Given the description of an element on the screen output the (x, y) to click on. 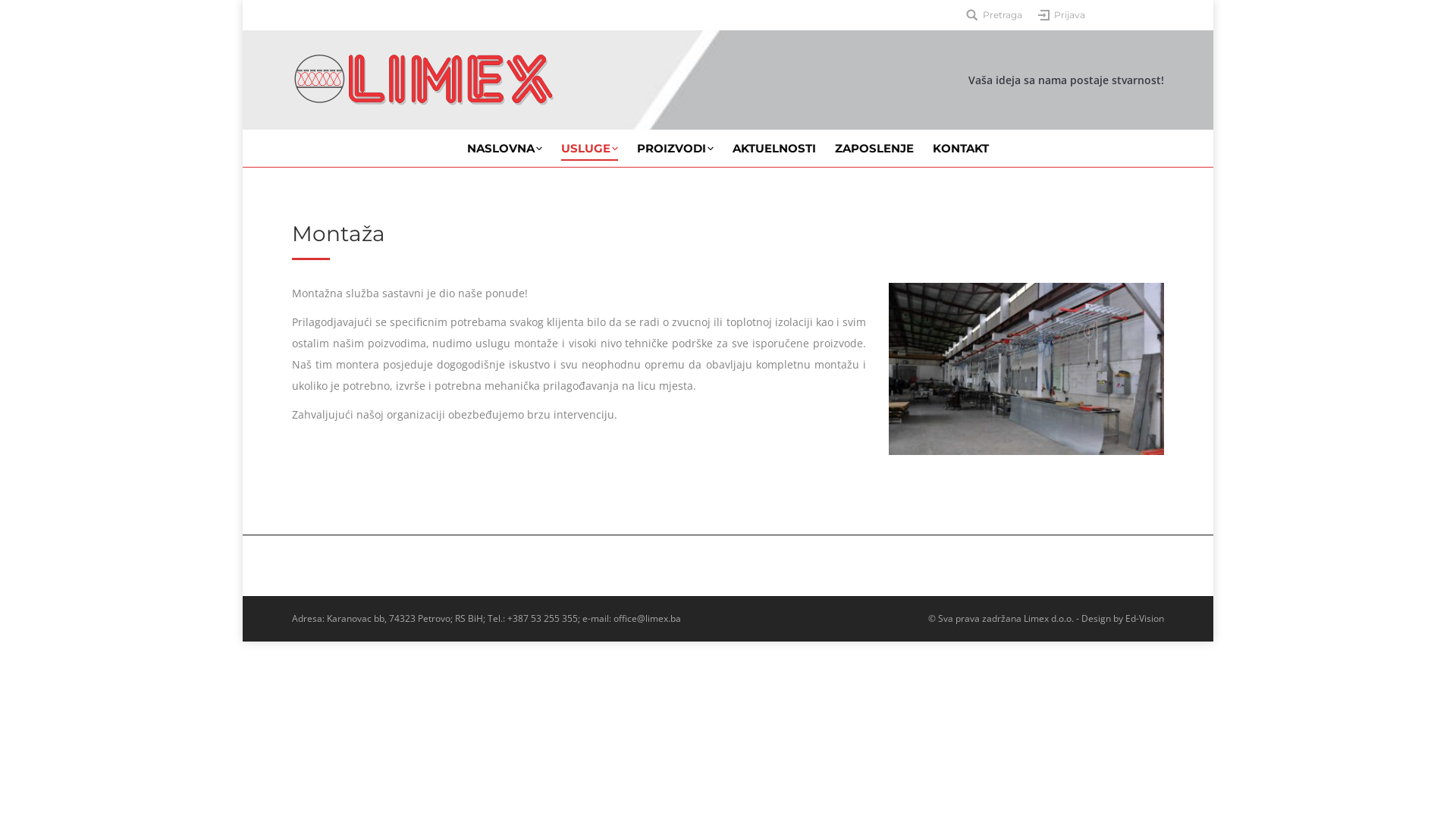
AKTUELNOSTI Element type: text (773, 148)
NASLOVNA Element type: text (504, 148)
PROIZVODI Element type: text (675, 148)
USLUGE Element type: text (589, 148)
Prijava Element type: text (1061, 14)
ZAPOSLENJE Element type: text (873, 148)
Go! Element type: text (20, 16)
limex6 Element type: hover (1026, 368)
Pretraga Element type: text (994, 14)
office@limex.ba Element type: text (646, 617)
KONTAKT Element type: text (960, 148)
